Given the description of an element on the screen output the (x, y) to click on. 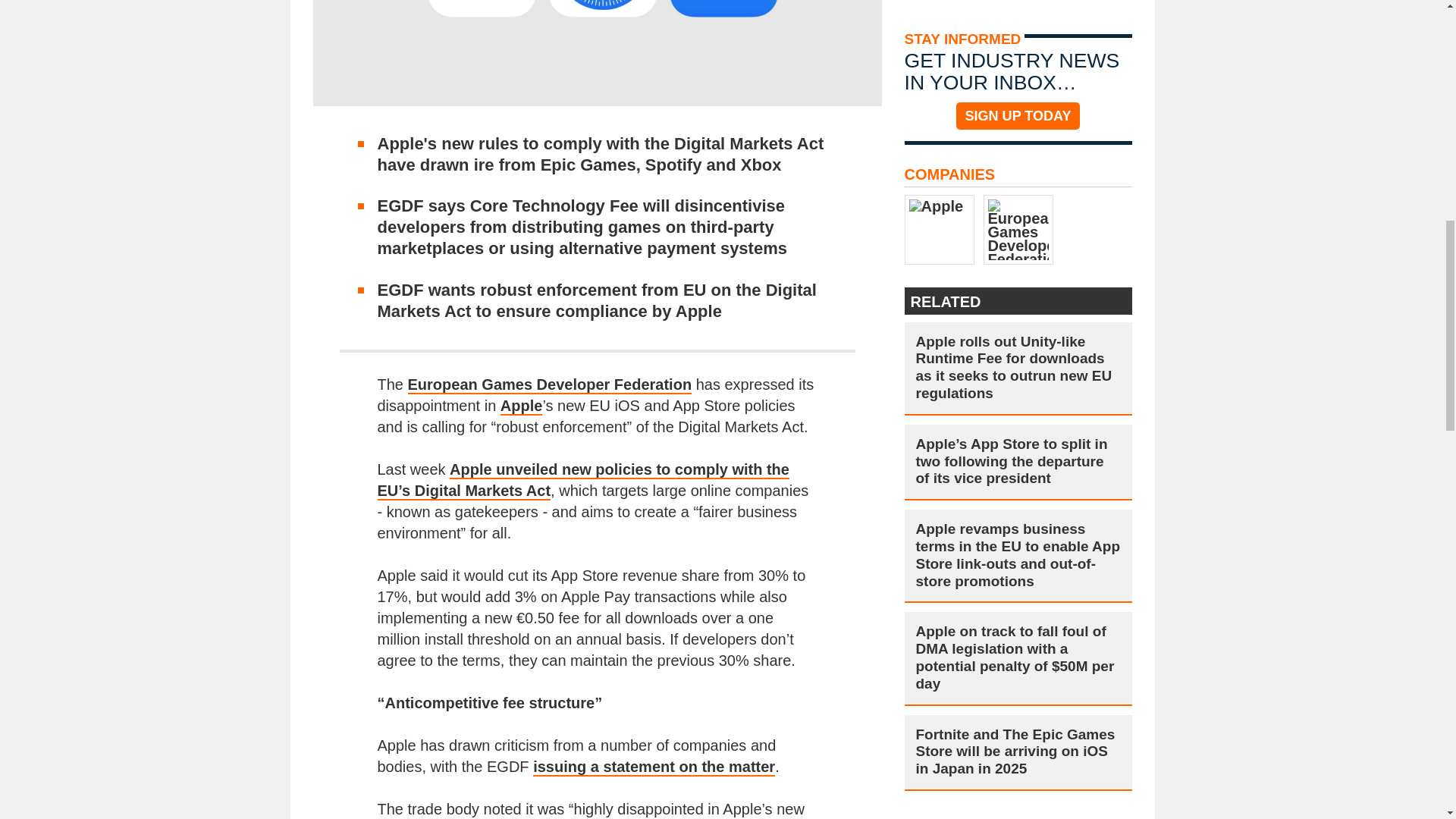
European Games Developer Federation (550, 384)
Apple (521, 406)
issuing a statement on the matter (653, 767)
